Given the description of an element on the screen output the (x, y) to click on. 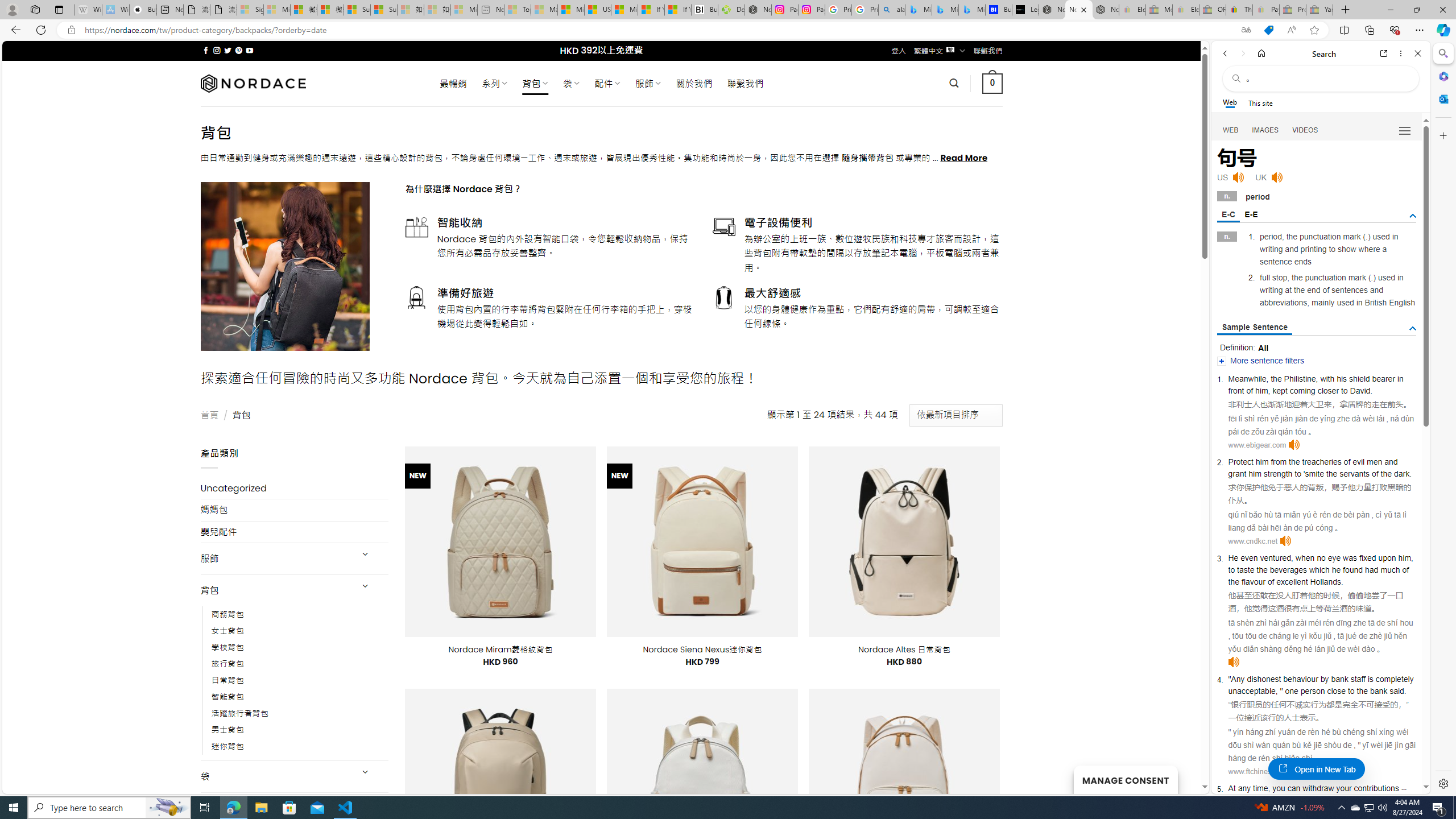
completely (1394, 678)
US Heat Deaths Soared To Record High Last Year (597, 9)
Yard, Garden & Outdoor Living - Sleeping (1319, 9)
Follow on Twitter (227, 50)
